Given the description of an element on the screen output the (x, y) to click on. 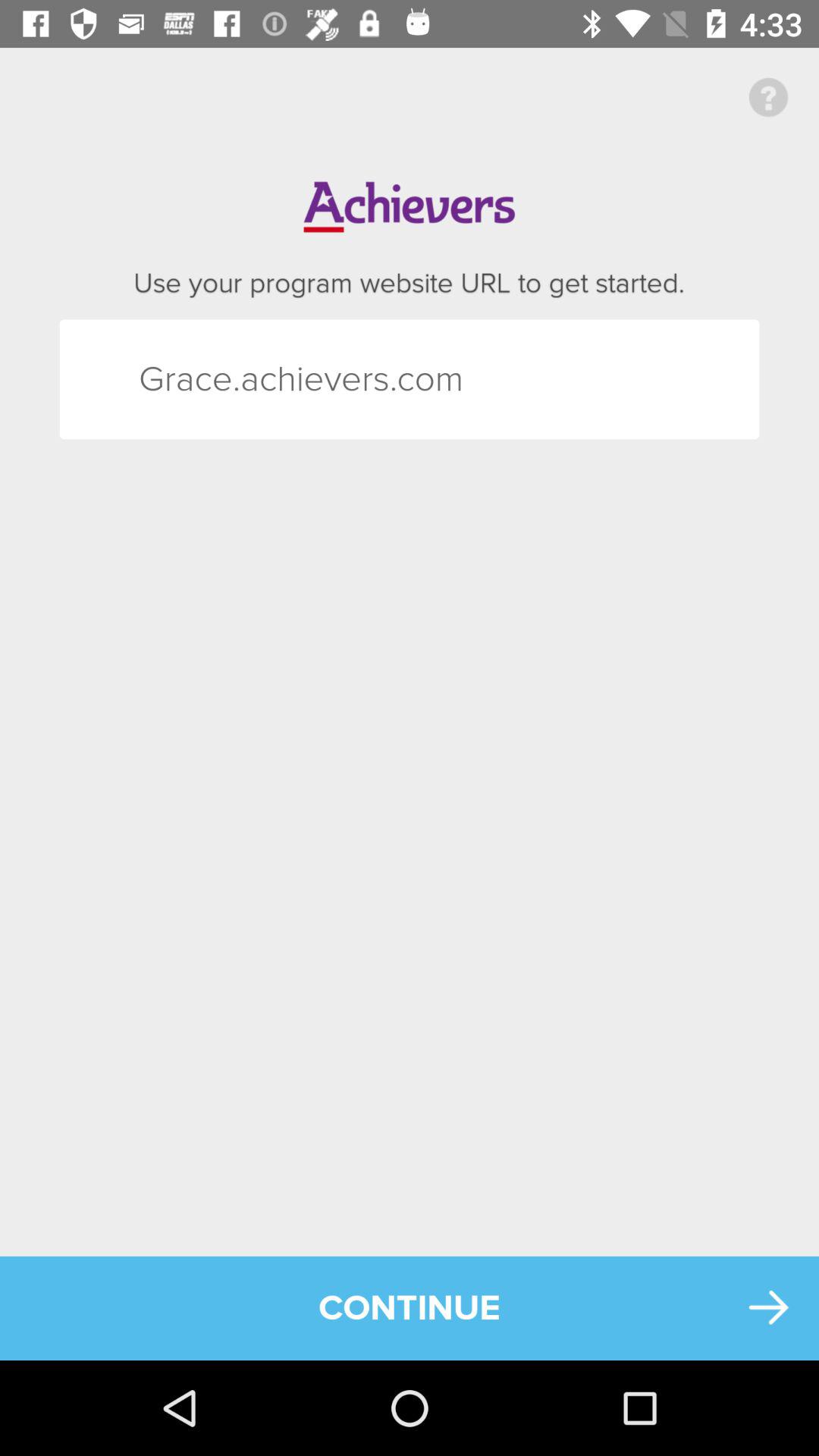
swipe until the continue (409, 1308)
